Given the description of an element on the screen output the (x, y) to click on. 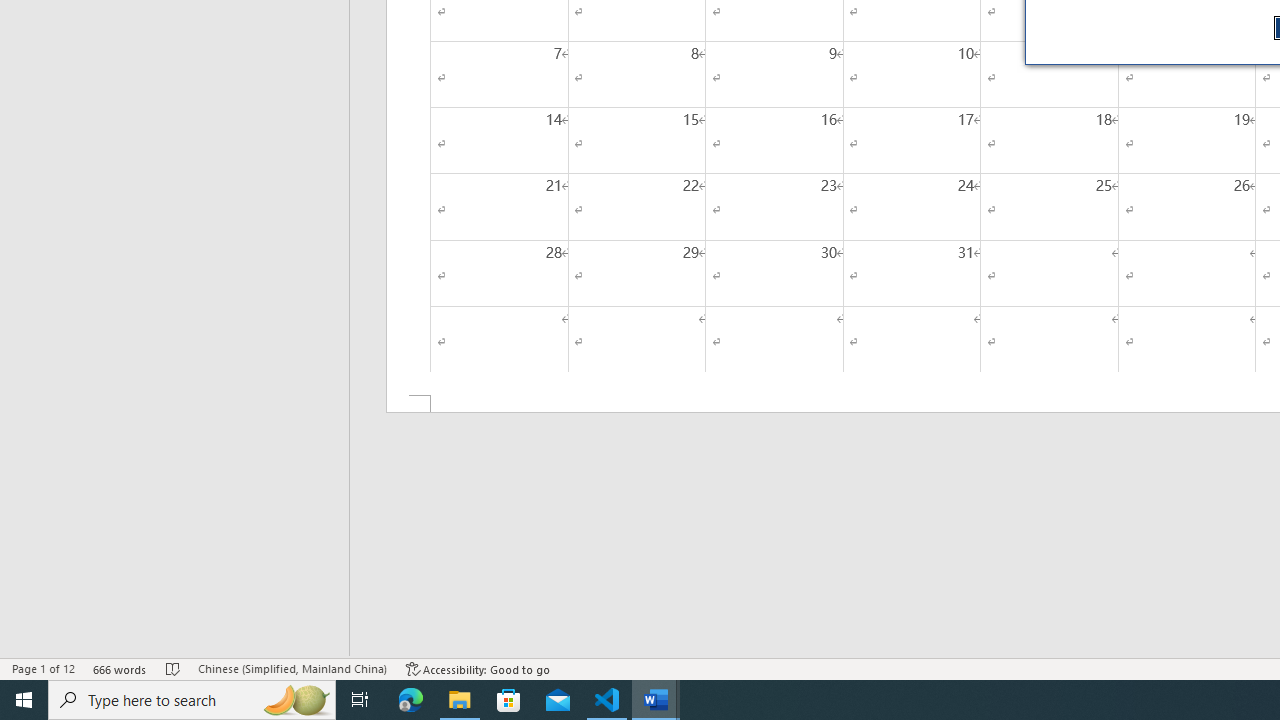
Microsoft Store (509, 699)
